Given the description of an element on the screen output the (x, y) to click on. 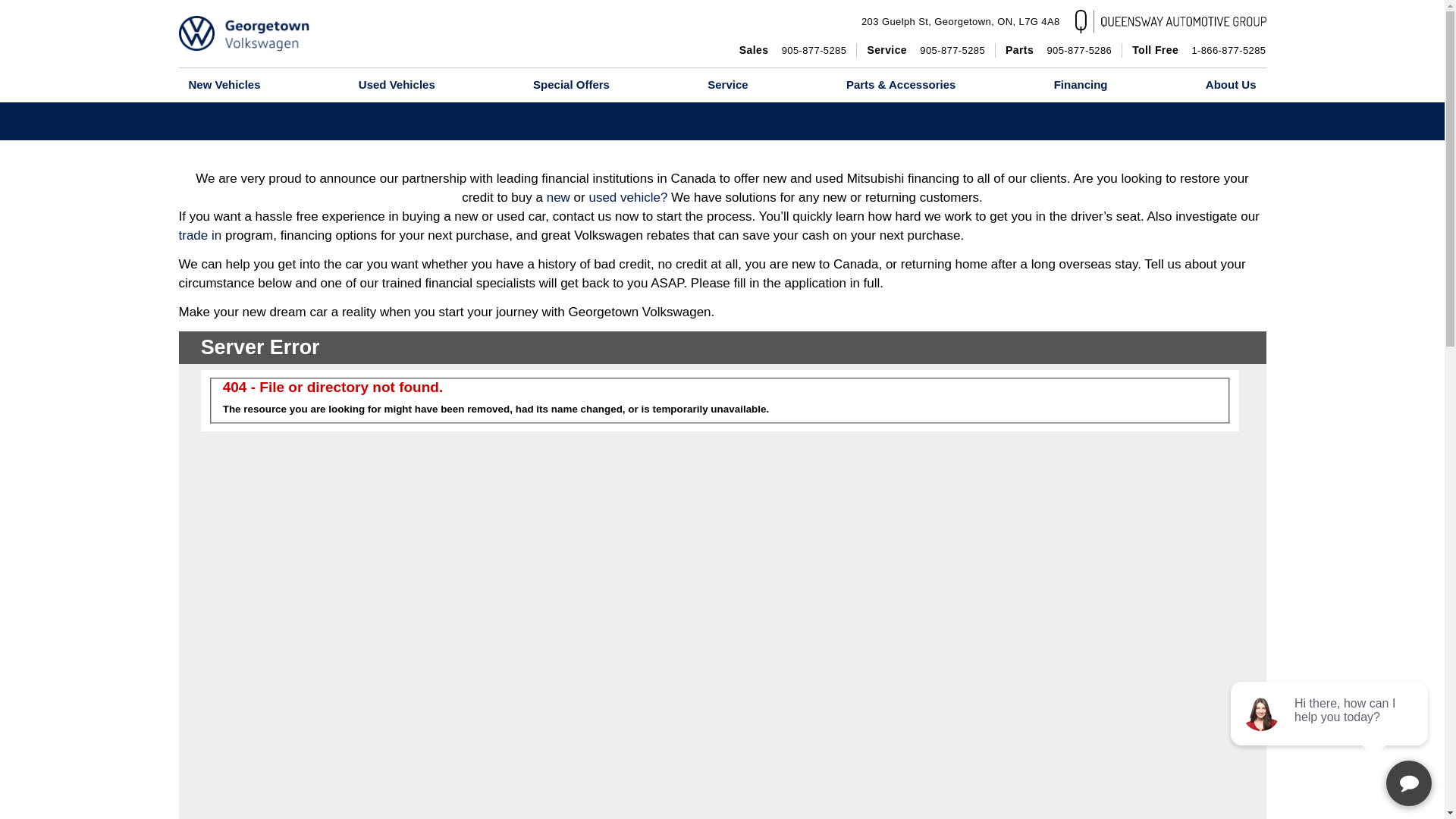
Parts 905-877-5286 (1059, 50)
Service 905-877-5285 (925, 50)
Toll Free 1-866-877-5285 (1198, 50)
Sales 905-877-5285 (793, 50)
New Vehicles (224, 84)
Special Offers (571, 84)
Used Vehicles (960, 21)
